Given the description of an element on the screen output the (x, y) to click on. 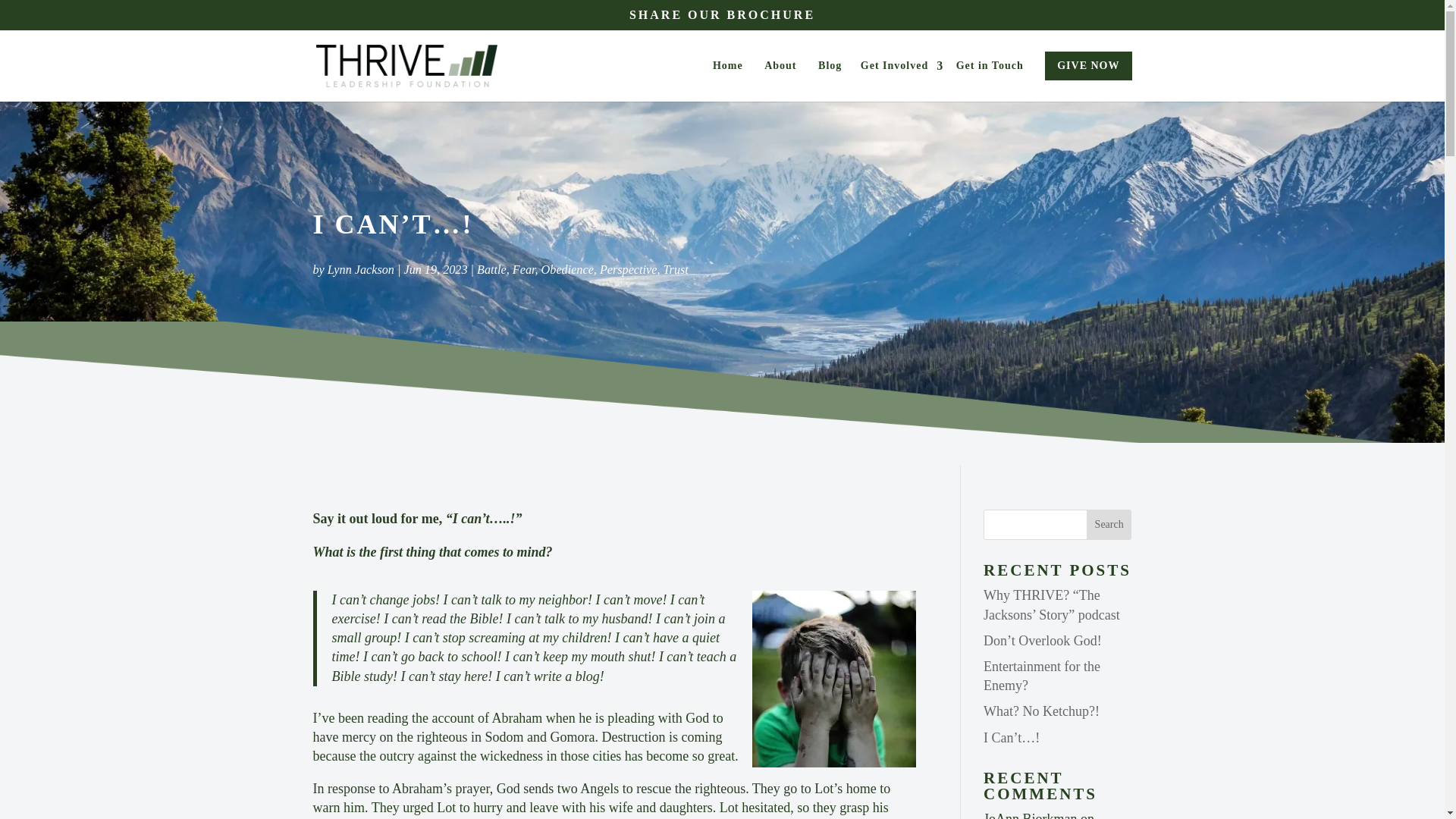
Lynn Jackson (360, 269)
Get Involved (898, 80)
Battle (491, 269)
Posts by Lynn Jackson (360, 269)
Perspective (628, 269)
Search (1109, 524)
About (780, 80)
Search (1109, 524)
Blog (829, 80)
Trust (675, 269)
Get in Touch (989, 80)
Fear (523, 269)
GIVE NOW (1088, 65)
Home (727, 80)
Obedience (567, 269)
